Given the description of an element on the screen output the (x, y) to click on. 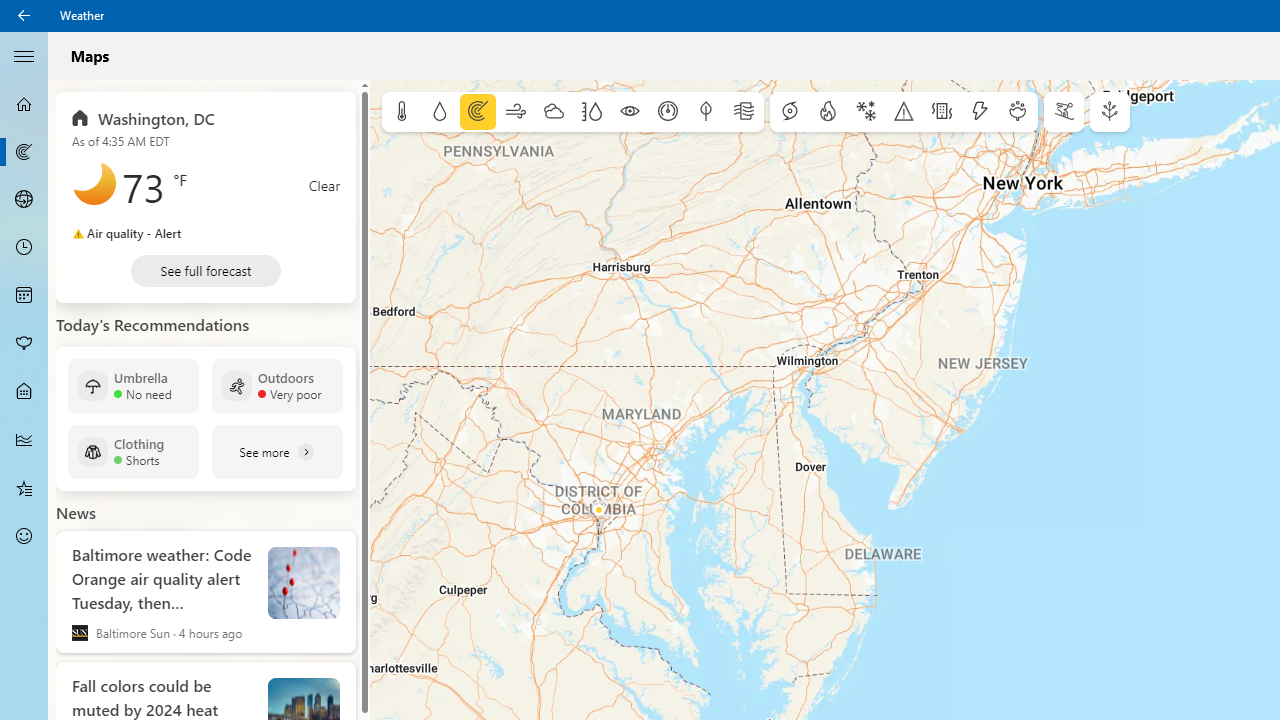
Send Feedback - Not Selected (24, 535)
Maps - Not Selected (24, 151)
3D Maps - Not Selected (24, 199)
Historical Weather - Not Selected (24, 439)
Pollen - Not Selected (24, 343)
Forecast - Not Selected (24, 103)
3D Maps - Not Selected (24, 199)
